Given the description of an element on the screen output the (x, y) to click on. 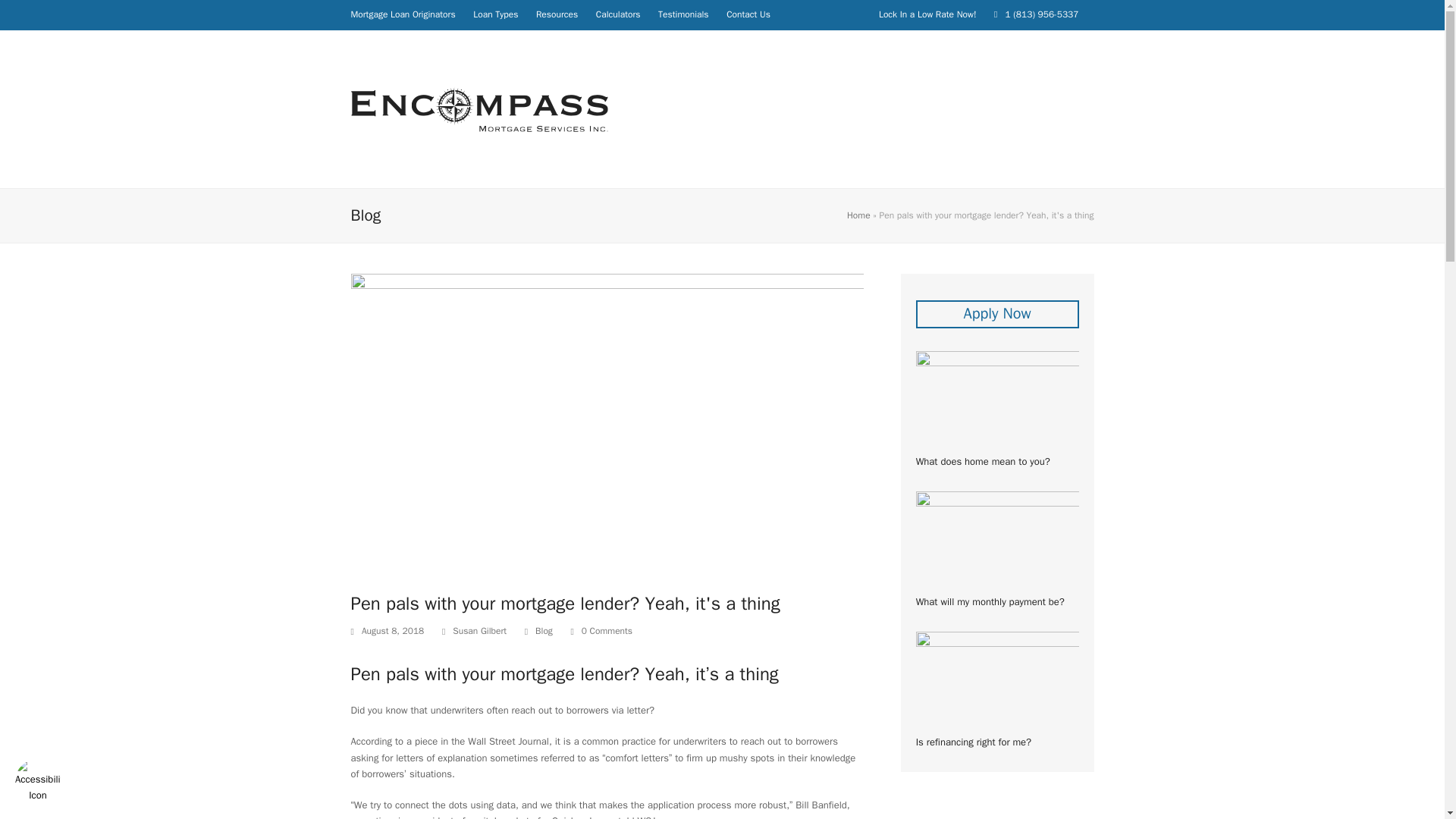
0 Comments (605, 631)
Calculators (617, 14)
Posts by Susan Gilbert (479, 630)
Mortgage Loan Originators (402, 14)
Contact Us (748, 14)
What does home mean to you? (996, 408)
Home (858, 215)
0 Comments (600, 631)
Susan Gilbert (479, 630)
What will my monthly payment be? (996, 550)
